Given the description of an element on the screen output the (x, y) to click on. 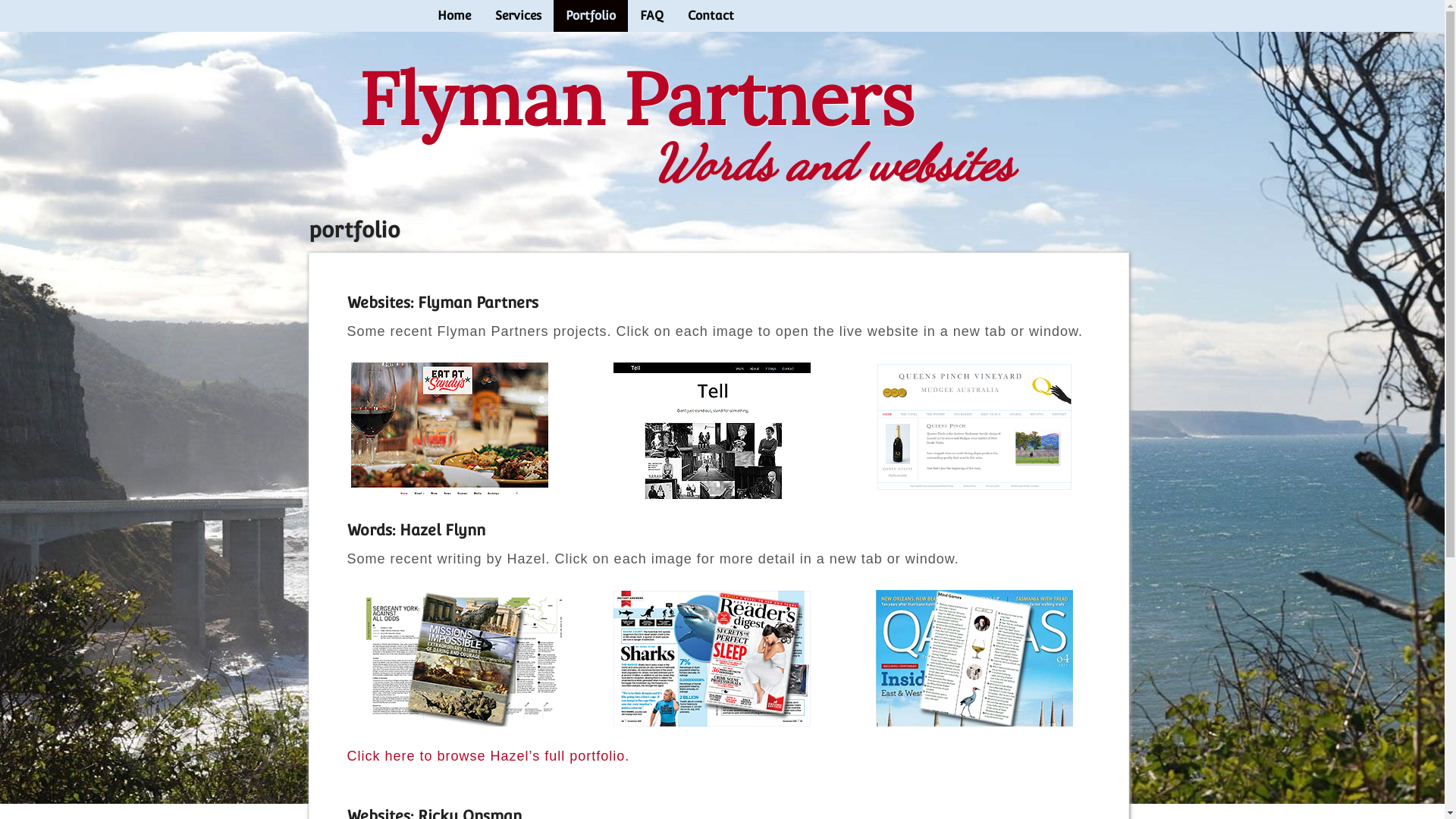
Contact Element type: text (709, 15)
Home Element type: text (453, 15)
Services Element type: text (517, 15)
Portfolio Element type: text (590, 15)
Flyman Partners Element type: text (635, 97)
FAQ Element type: text (651, 15)
